Given the description of an element on the screen output the (x, y) to click on. 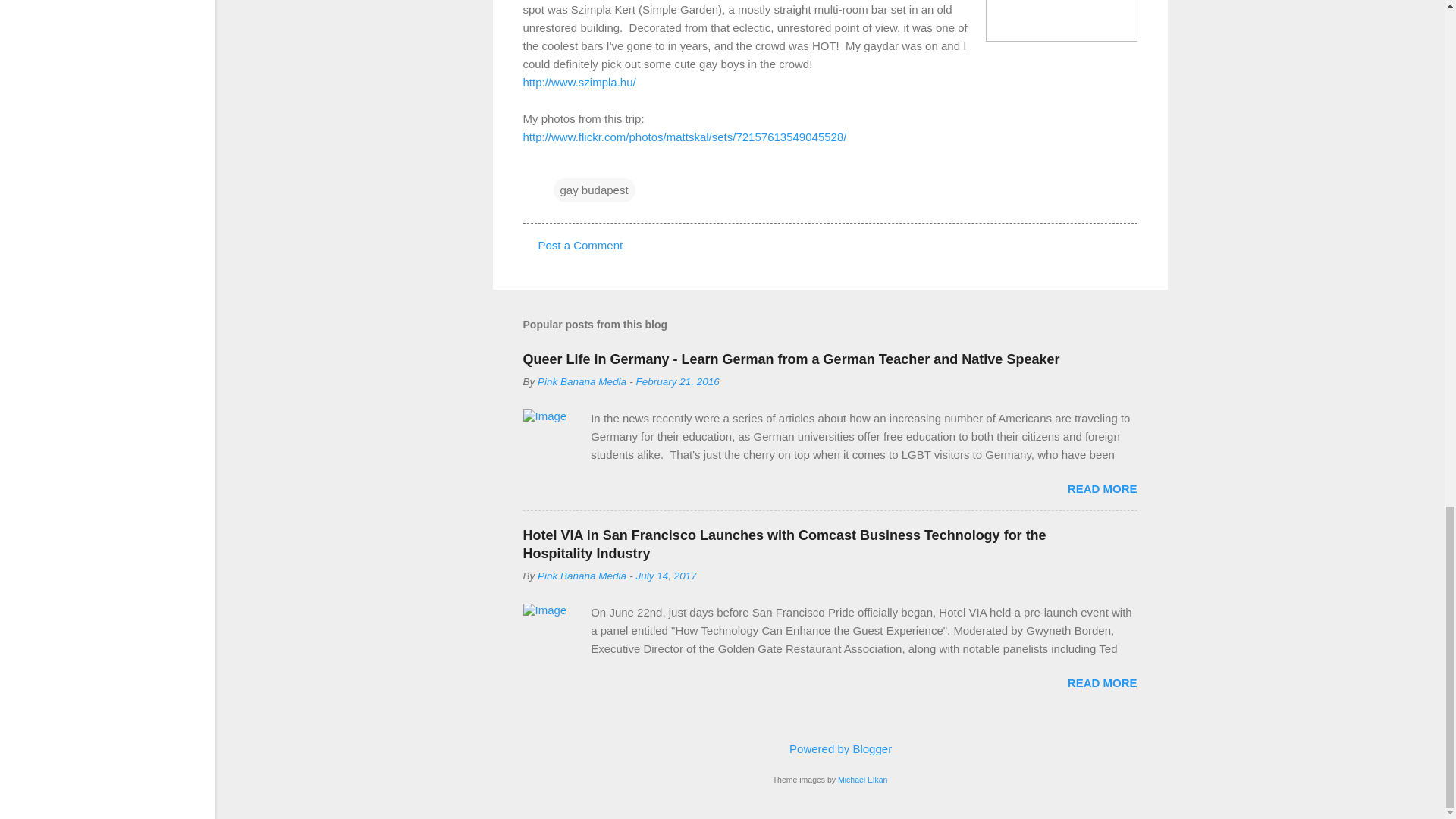
Post a Comment (580, 245)
author profile (581, 381)
Michael Elkan (862, 778)
gay budapest (593, 190)
February 21, 2016 (677, 381)
READ MORE (1102, 488)
READ MORE (1102, 682)
Powered by Blogger (829, 748)
Pink Banana Media (581, 575)
Pink Banana Media (581, 381)
July 14, 2017 (666, 575)
